Given the description of an element on the screen output the (x, y) to click on. 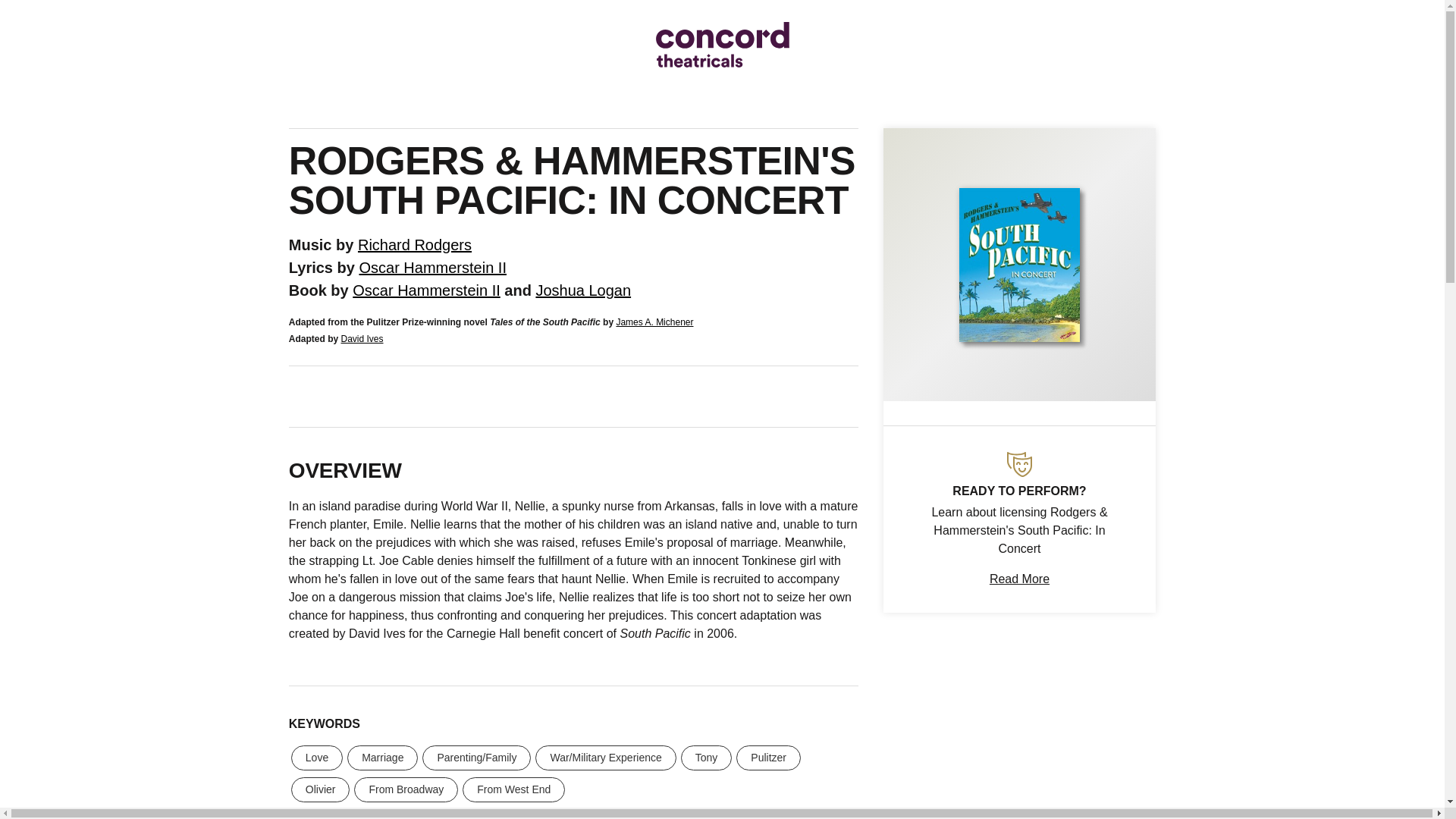
Richard Rodgers (414, 244)
SubGenre (1018, 464)
Header logo (722, 44)
Oscar Hammerstein II (431, 267)
Love (316, 757)
Oscar Hammerstein II (425, 289)
David Ives (361, 338)
Joshua Logan (582, 289)
James A. Michener (654, 321)
Marriage (382, 757)
Read More (1019, 578)
